Given the description of an element on the screen output the (x, y) to click on. 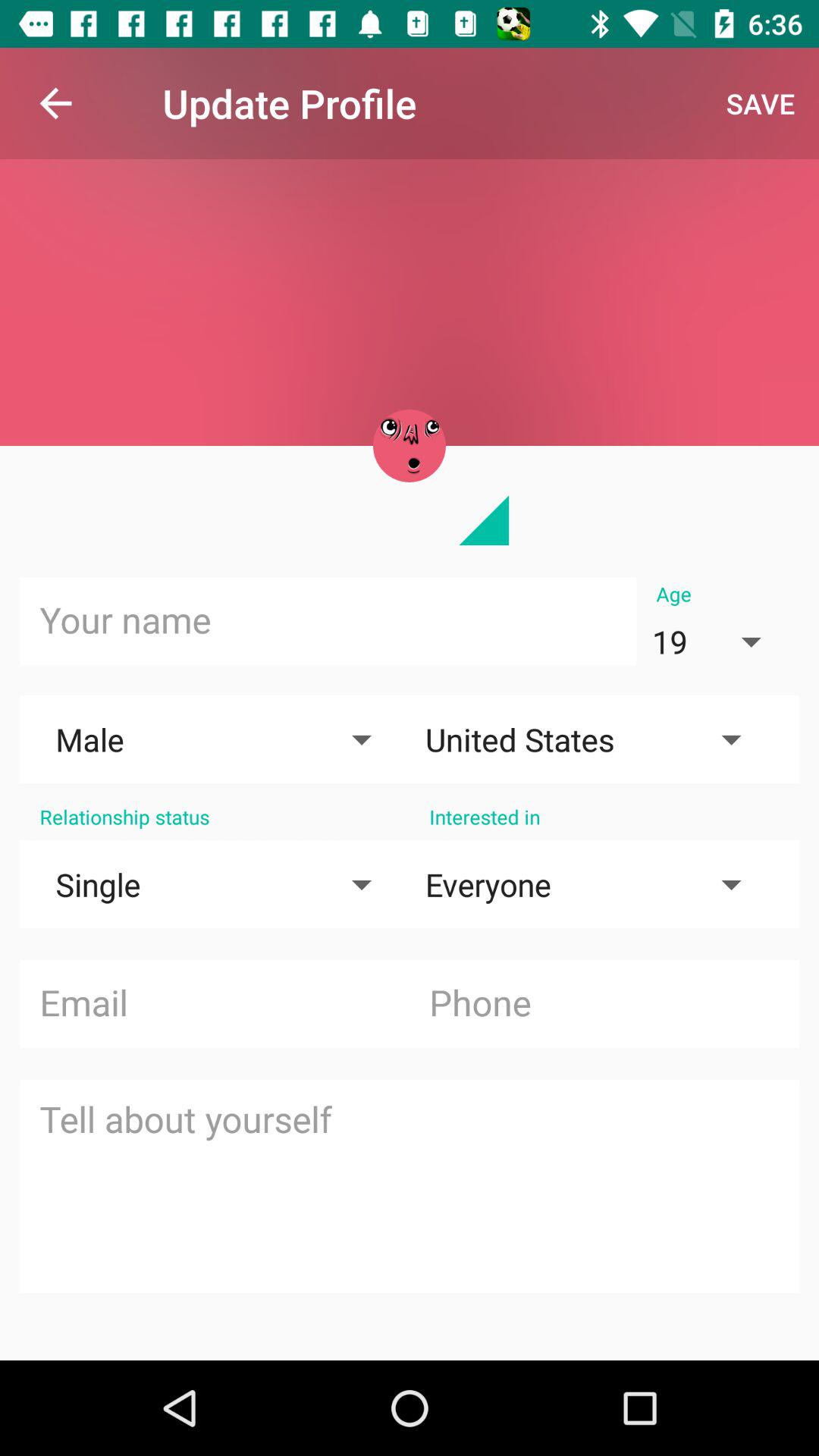
enter profile name (327, 621)
